Given the description of an element on the screen output the (x, y) to click on. 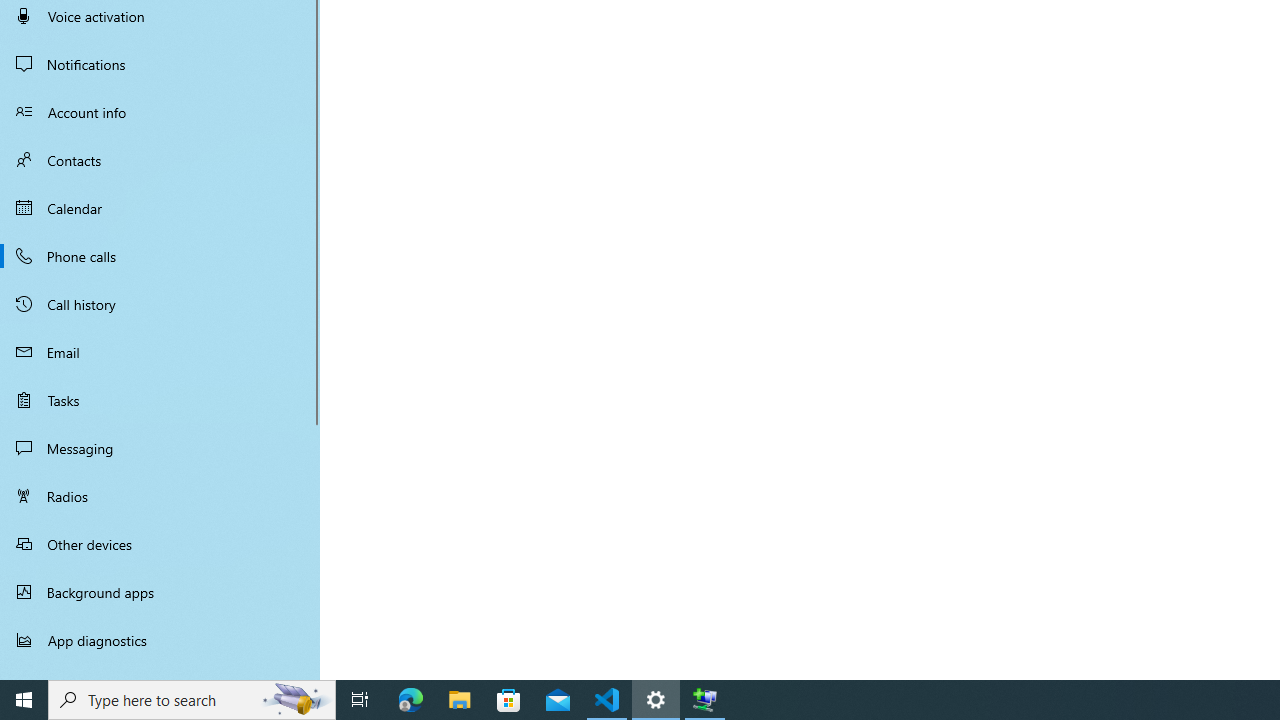
Automatic file downloads (160, 671)
Extensible Wizards Host Process - 1 running window (704, 699)
Phone calls (160, 255)
Type here to search (191, 699)
Microsoft Store (509, 699)
Task View (359, 699)
Search highlights icon opens search home window (295, 699)
Background apps (160, 592)
Microsoft Edge (411, 699)
Other devices (160, 543)
Visual Studio Code - 1 running window (607, 699)
Account info (160, 111)
Calendar (160, 207)
File Explorer (460, 699)
App diagnostics (160, 639)
